Given the description of an element on the screen output the (x, y) to click on. 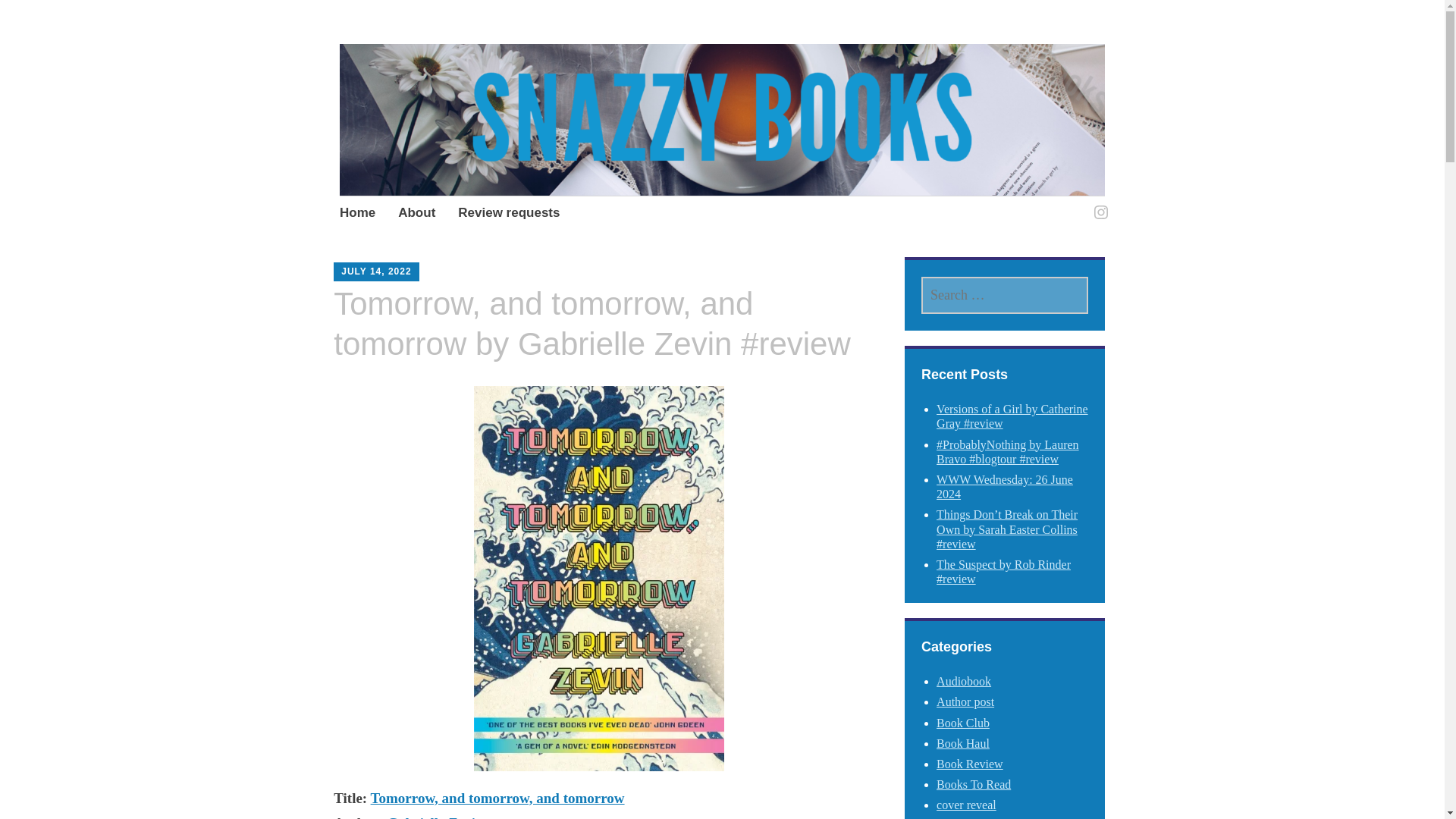
Review requests (508, 214)
Snazzy Books (460, 100)
LAURA (447, 266)
Gabrielle Zevin (435, 816)
JULY 14, 2022 (375, 271)
About (416, 214)
Home (357, 214)
Tomorrow, and tomorrow, and tomorrow (497, 797)
